Given the description of an element on the screen output the (x, y) to click on. 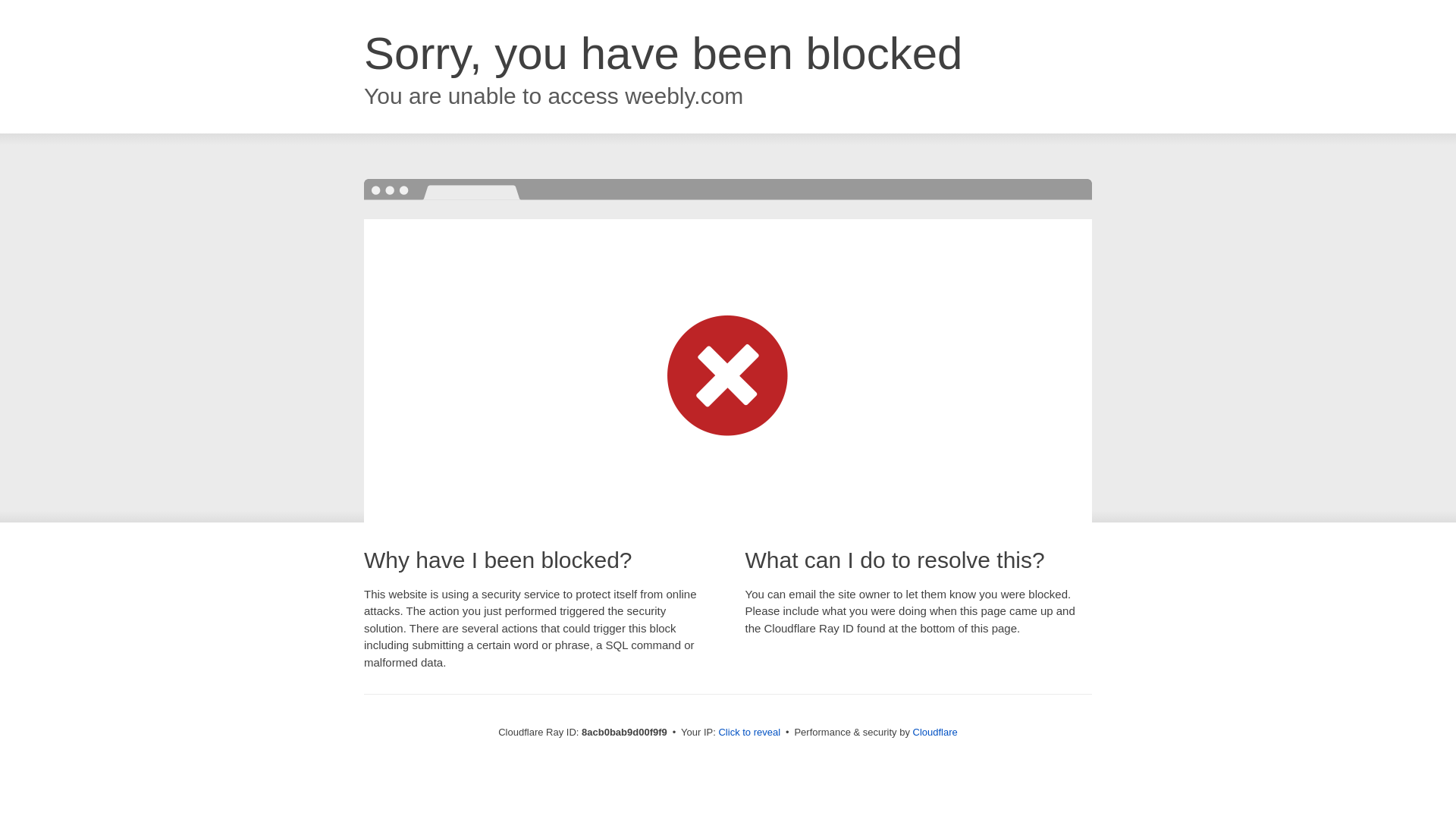
Click to reveal (748, 732)
Cloudflare (935, 731)
